Given the description of an element on the screen output the (x, y) to click on. 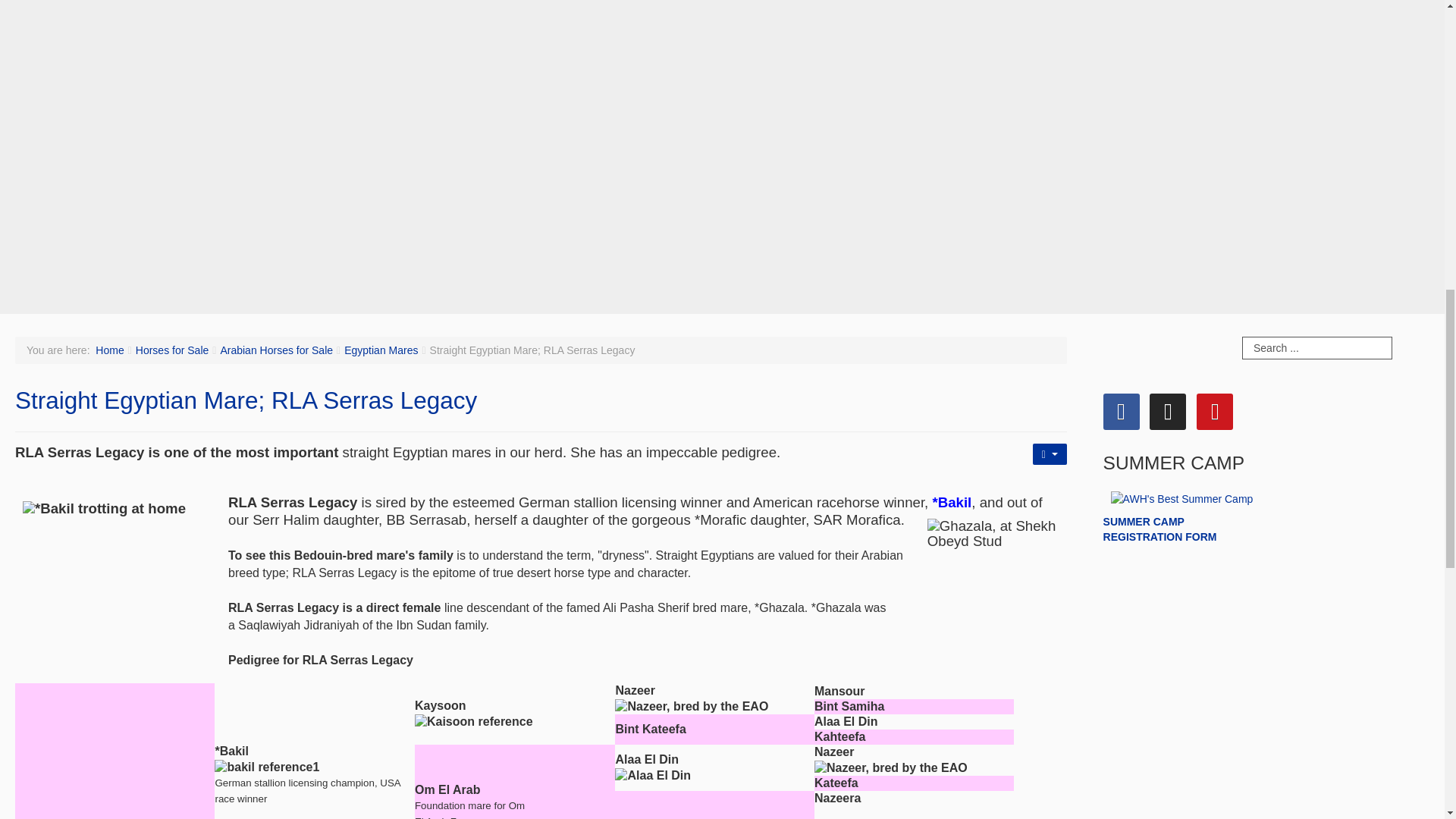
Search ... (1316, 347)
Egyptian Mares (380, 349)
Straight Egyptian Mare; RLA Serras Legacy (245, 400)
Arabian Horses for Sale (276, 349)
Home (109, 349)
Search ... (1316, 347)
Horses for Sale (171, 349)
